Given the description of an element on the screen output the (x, y) to click on. 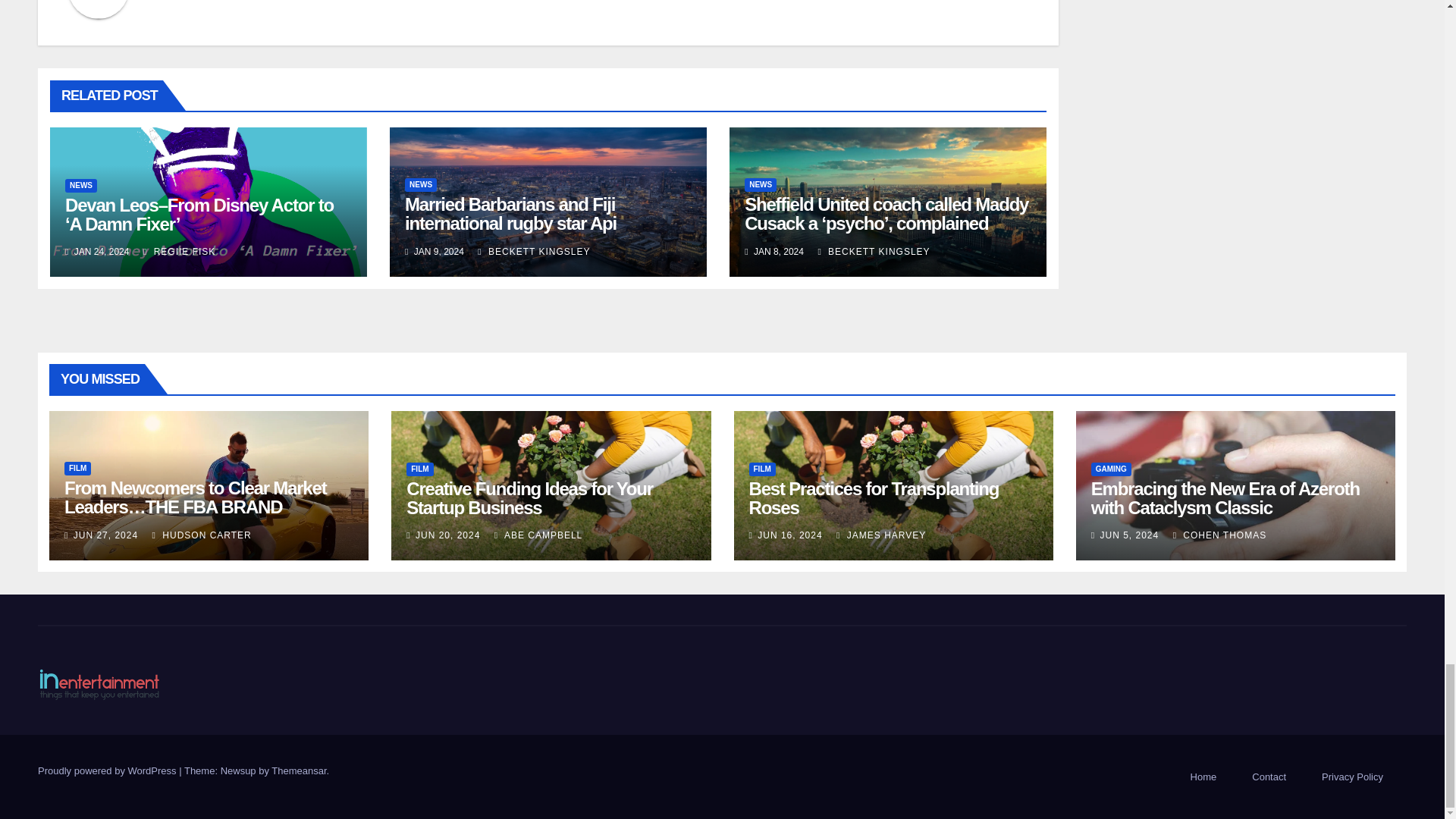
Permalink to: Best Practices for Transplanting Roses (873, 497)
BECKETT KINGSLEY (873, 251)
REGIIE FISK (178, 251)
Home (1202, 776)
BECKETT KINGSLEY (533, 251)
NEWS (420, 184)
NEWS (81, 185)
NEWS (760, 184)
